Given the description of an element on the screen output the (x, y) to click on. 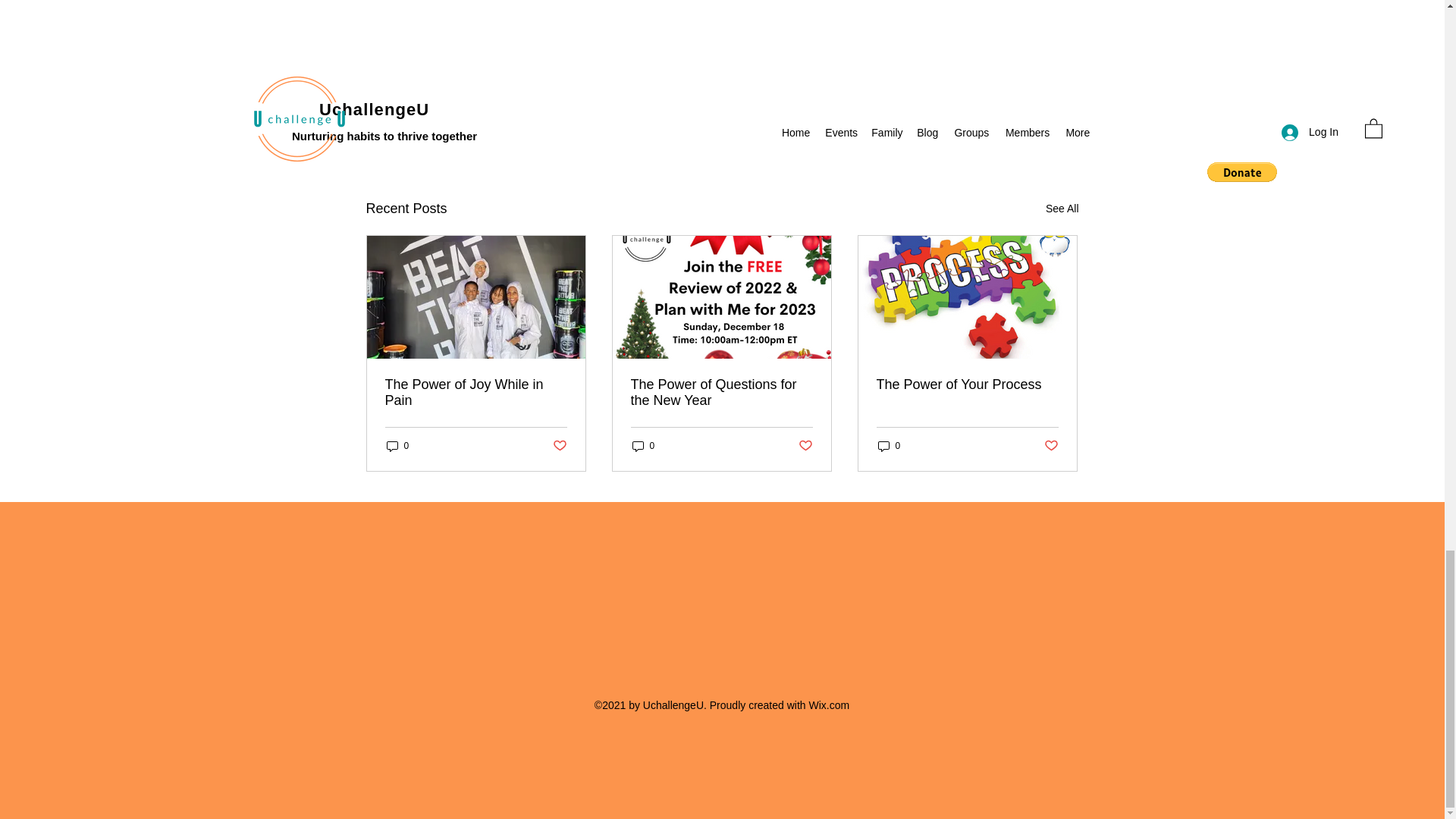
Post not marked as liked (558, 446)
The Power of Questions for the New Year (721, 392)
0 (643, 445)
0 (397, 445)
See All (1061, 209)
The Power of Joy While in Pain (990, 125)
